Given the description of an element on the screen output the (x, y) to click on. 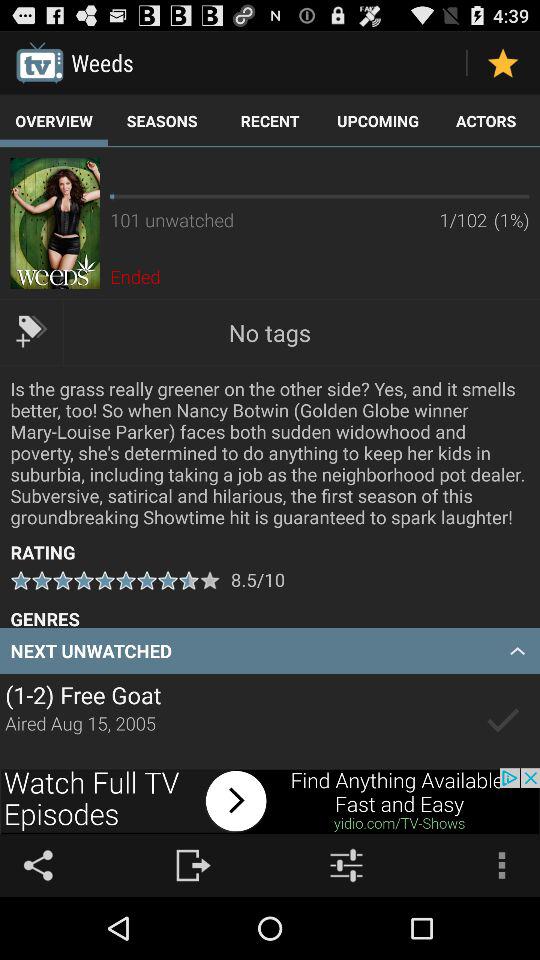
weeds series button (54, 223)
